Given the description of an element on the screen output the (x, y) to click on. 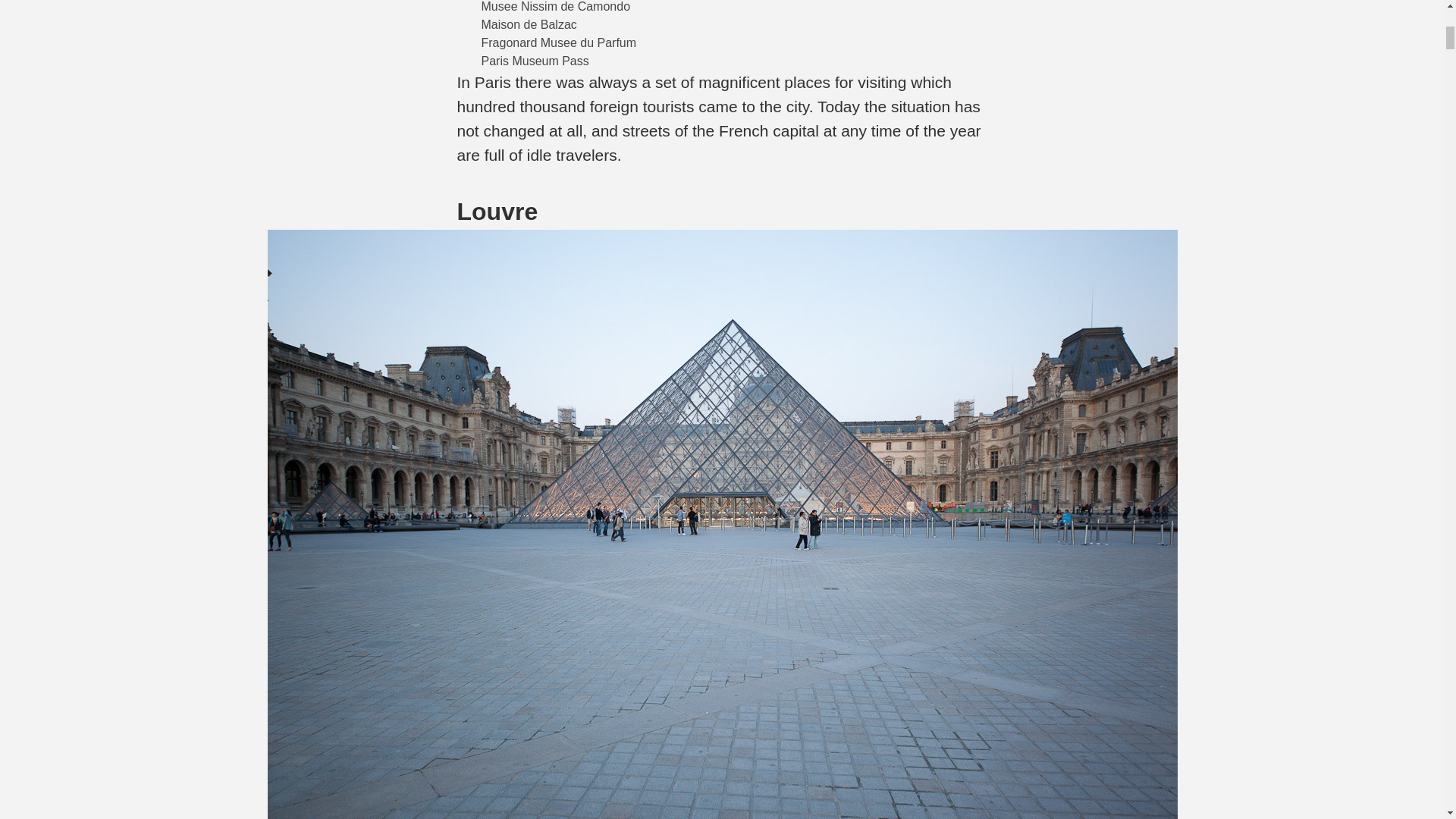
Maison de Balzac (528, 24)
Musee Nissim de Camondo (555, 6)
